Given the description of an element on the screen output the (x, y) to click on. 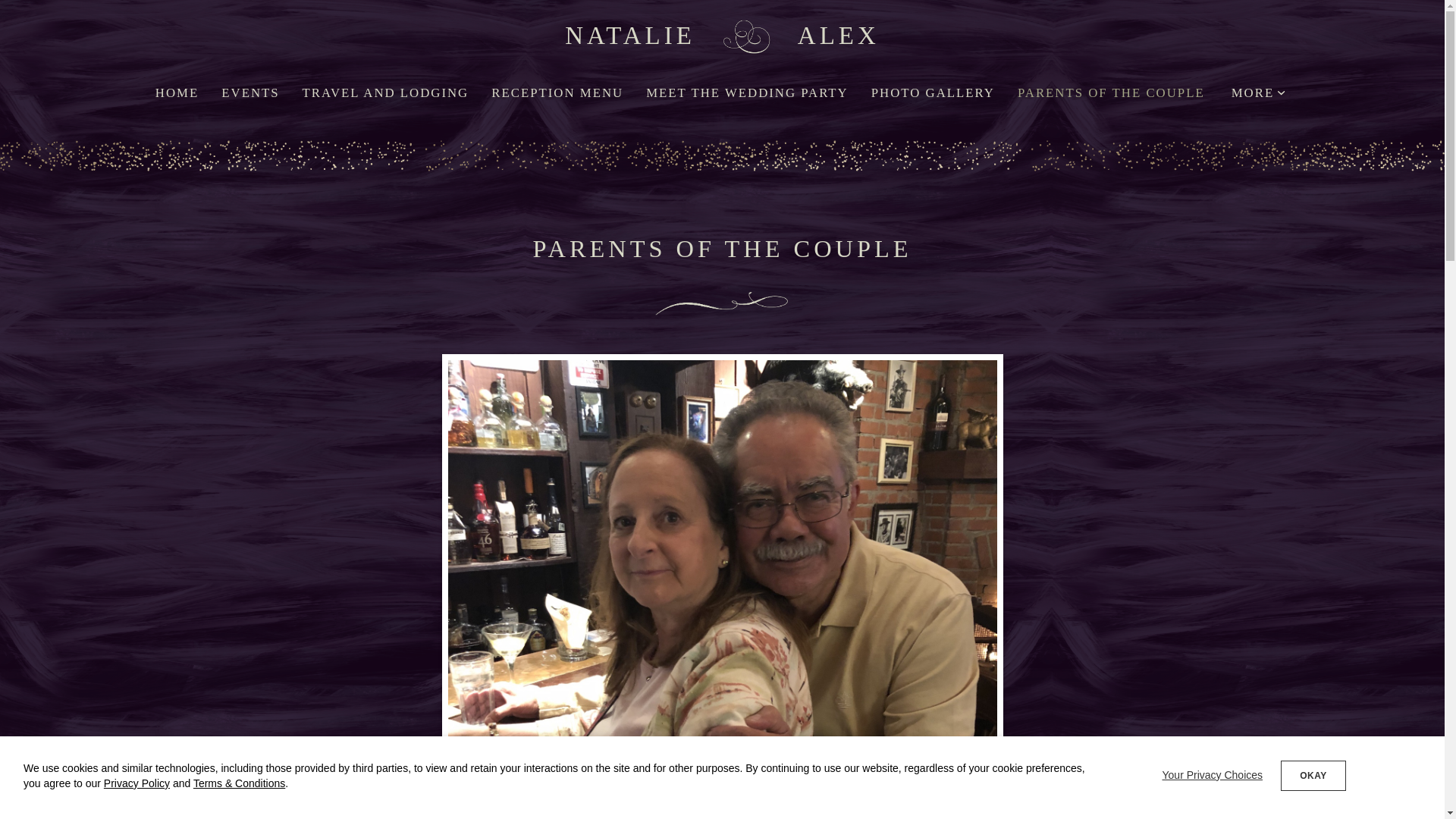
Your Privacy Choices (1211, 775)
EVENTS (250, 92)
Privacy Policy (136, 783)
HOME (176, 92)
TRAVEL AND LODGING (385, 92)
RECEPTION MENU (557, 92)
MEET THE WEDDING PARTY (747, 92)
PHOTO GALLERY (932, 92)
PARENTS OF THE COUPLE (1111, 92)
